Given the description of an element on the screen output the (x, y) to click on. 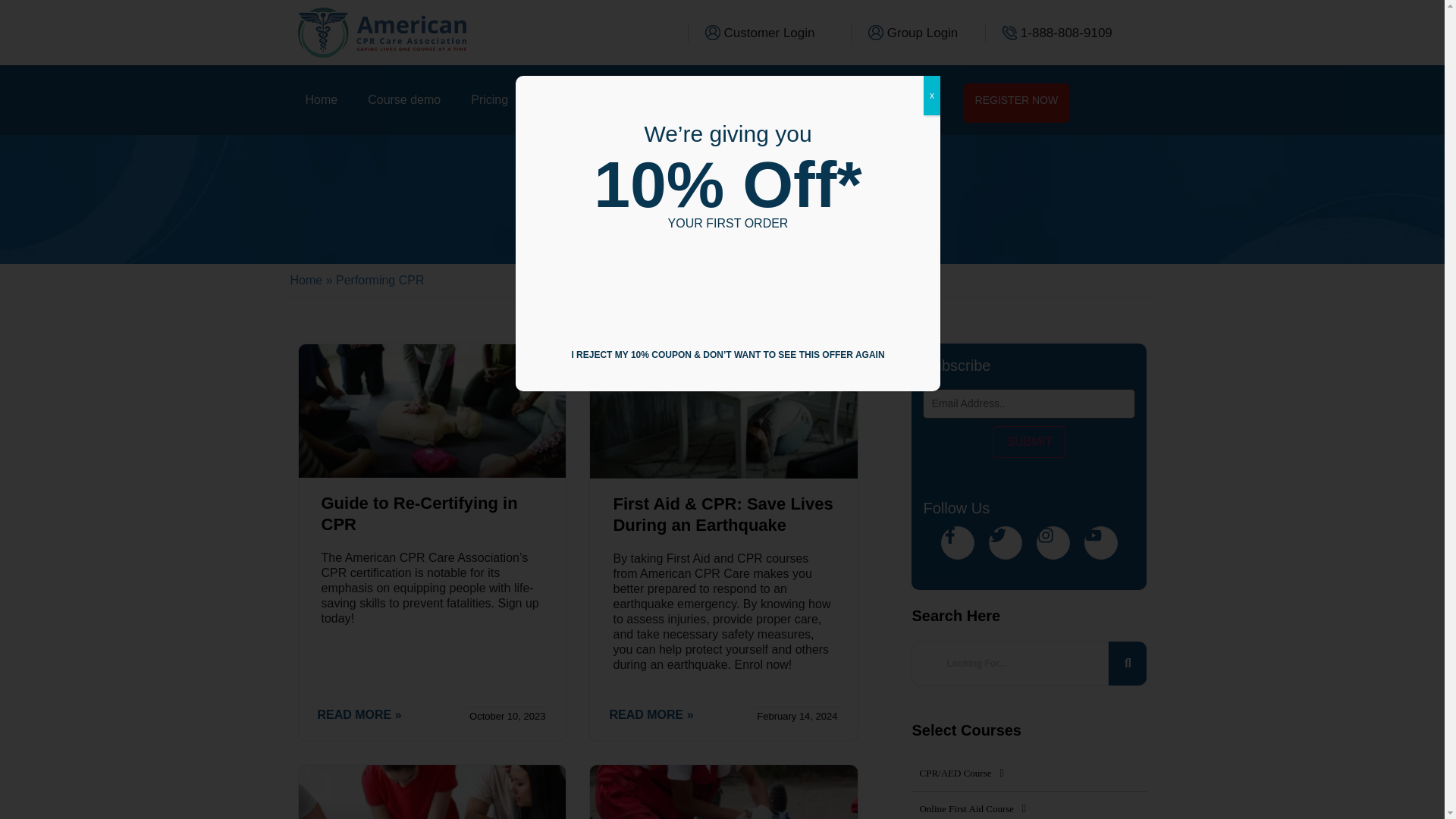
Home (305, 279)
Web Forms (727, 286)
Submit (1028, 441)
Search (1009, 663)
